Given the description of an element on the screen output the (x, y) to click on. 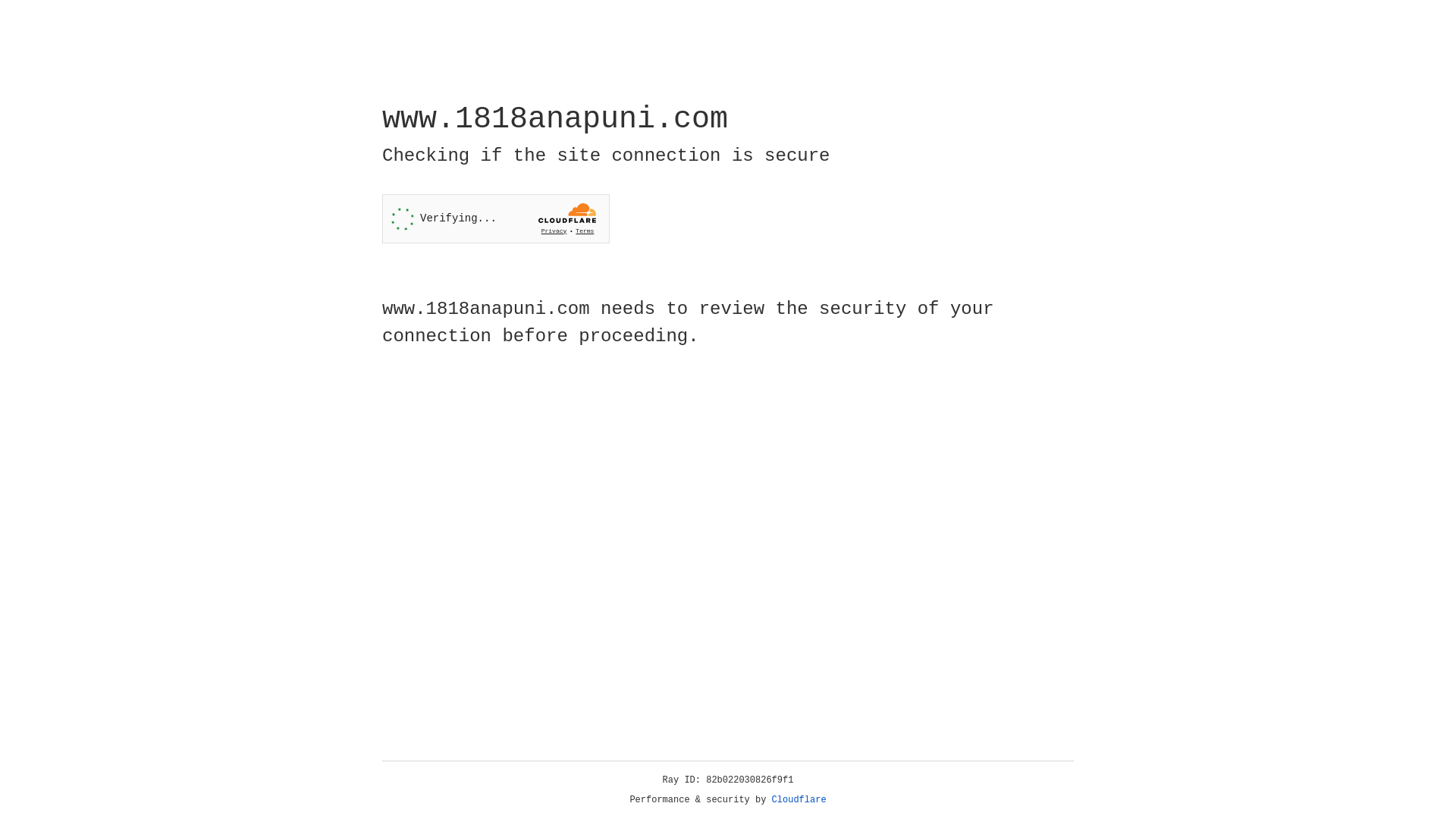
Widget containing a Cloudflare security challenge Element type: hover (495, 218)
Cloudflare Element type: text (798, 799)
